Given the description of an element on the screen output the (x, y) to click on. 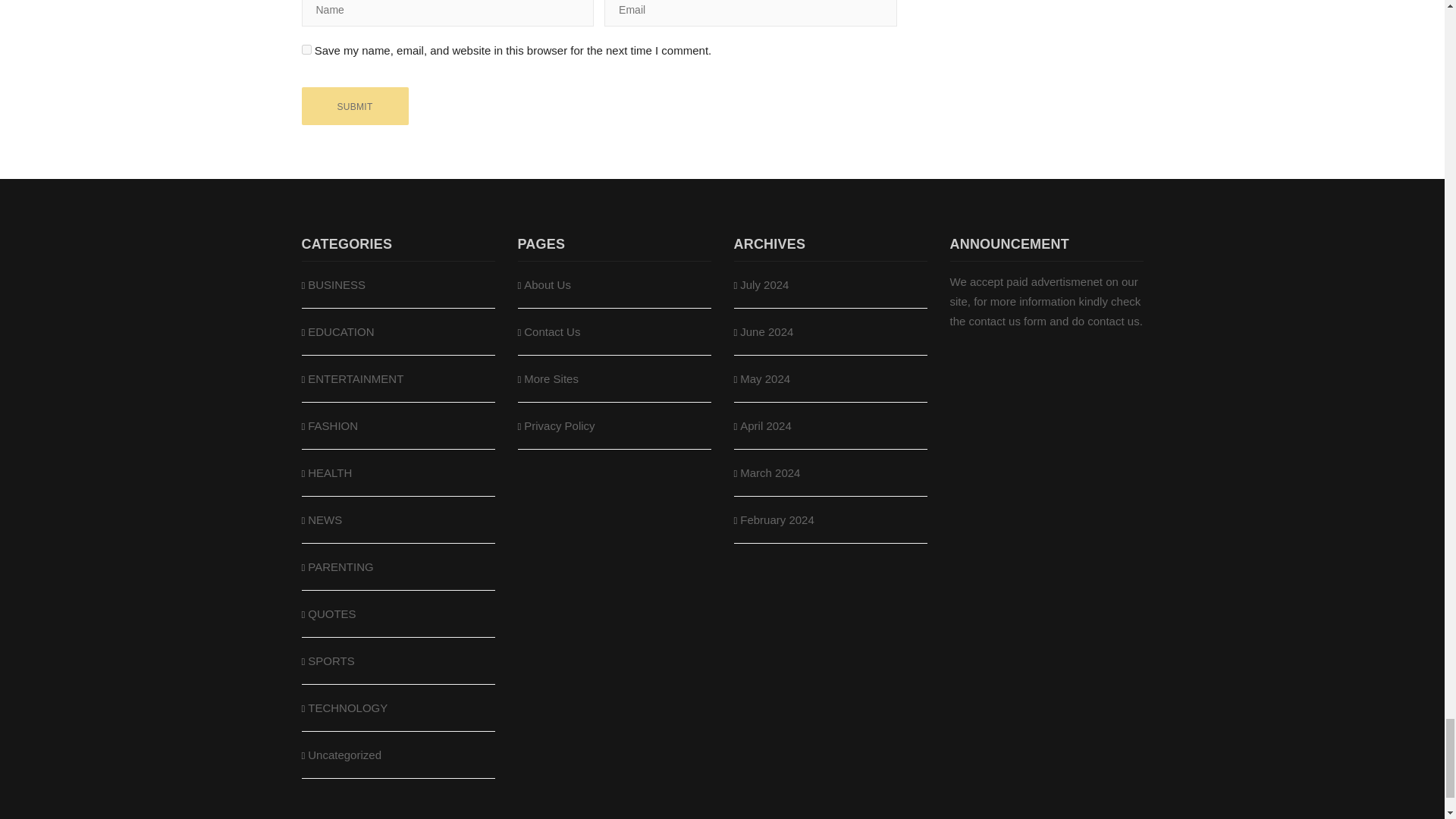
yes (306, 49)
Submit (355, 105)
